Given the description of an element on the screen output the (x, y) to click on. 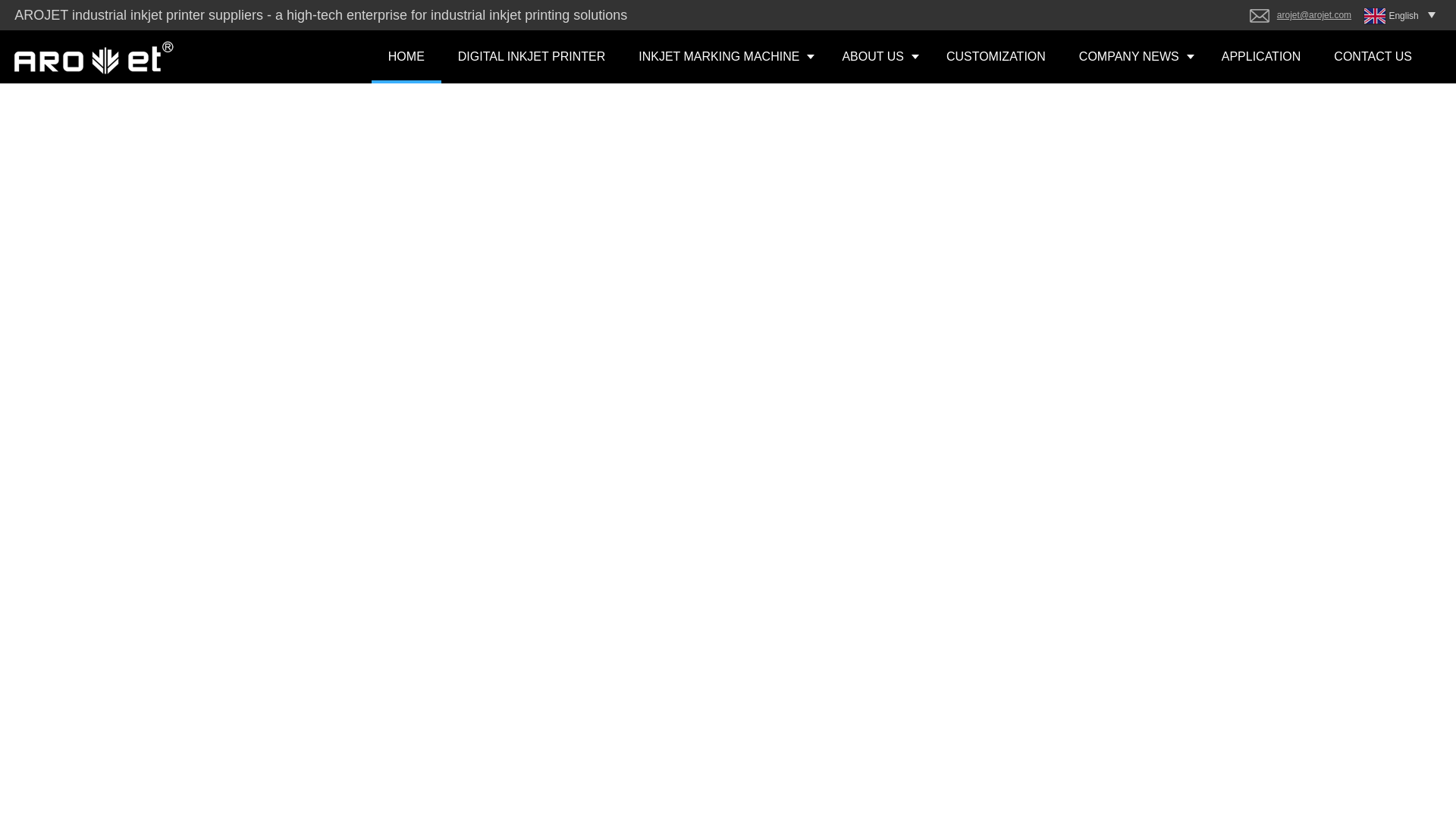
ABOUT US (877, 56)
DIGITAL INKJET PRINTER (531, 56)
COMPANY NEWS (1133, 56)
CUSTOMIZATION (996, 56)
CONTACT US (1372, 56)
HOME (406, 56)
INKJET MARKING MACHINE (723, 56)
APPLICATION (1261, 56)
